Given the description of an element on the screen output the (x, y) to click on. 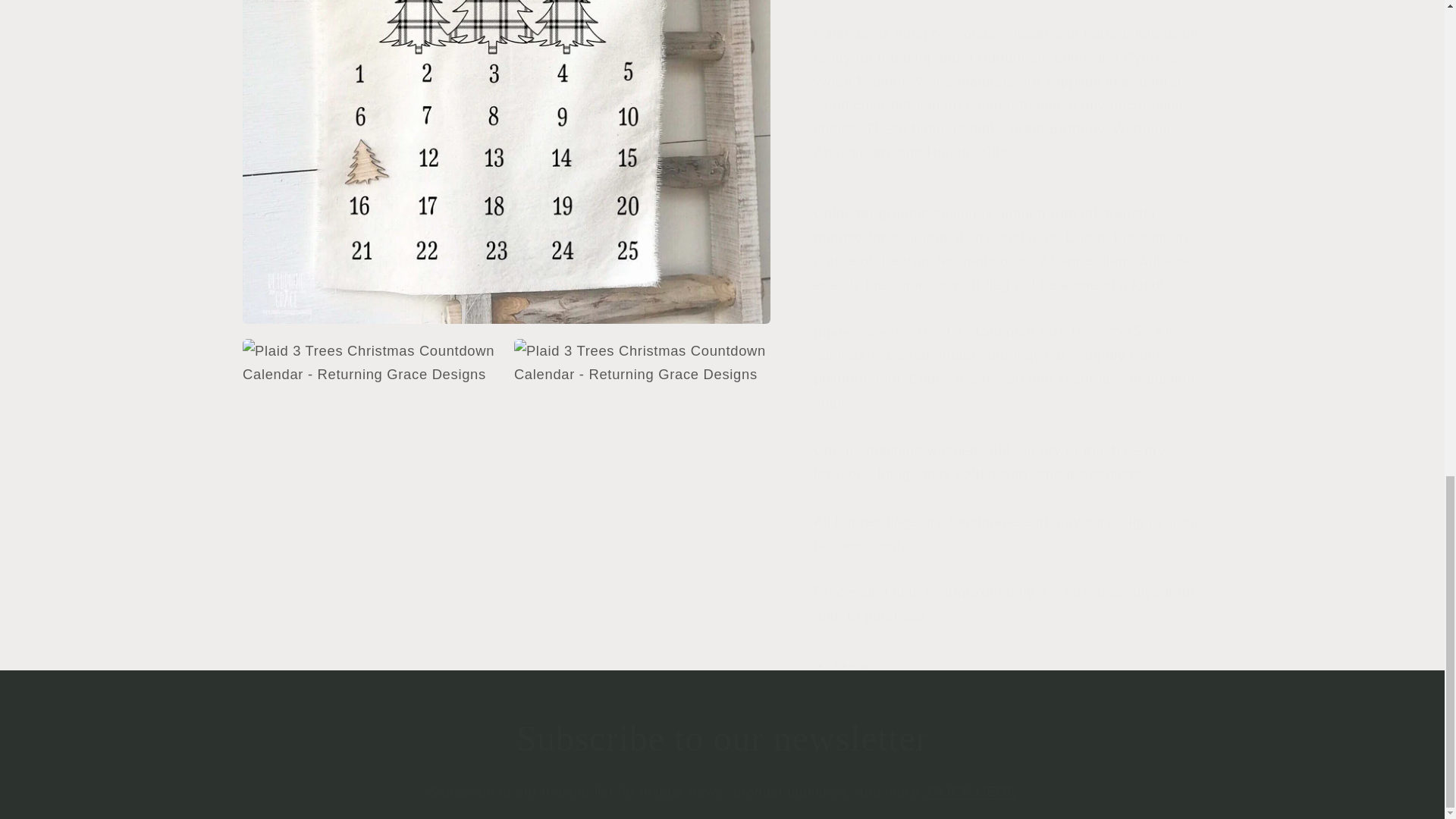
Open media 2 in modal (371, 28)
Subscribe to our newsletter (722, 738)
Open media 3 in modal (641, 28)
